Given the description of an element on the screen output the (x, y) to click on. 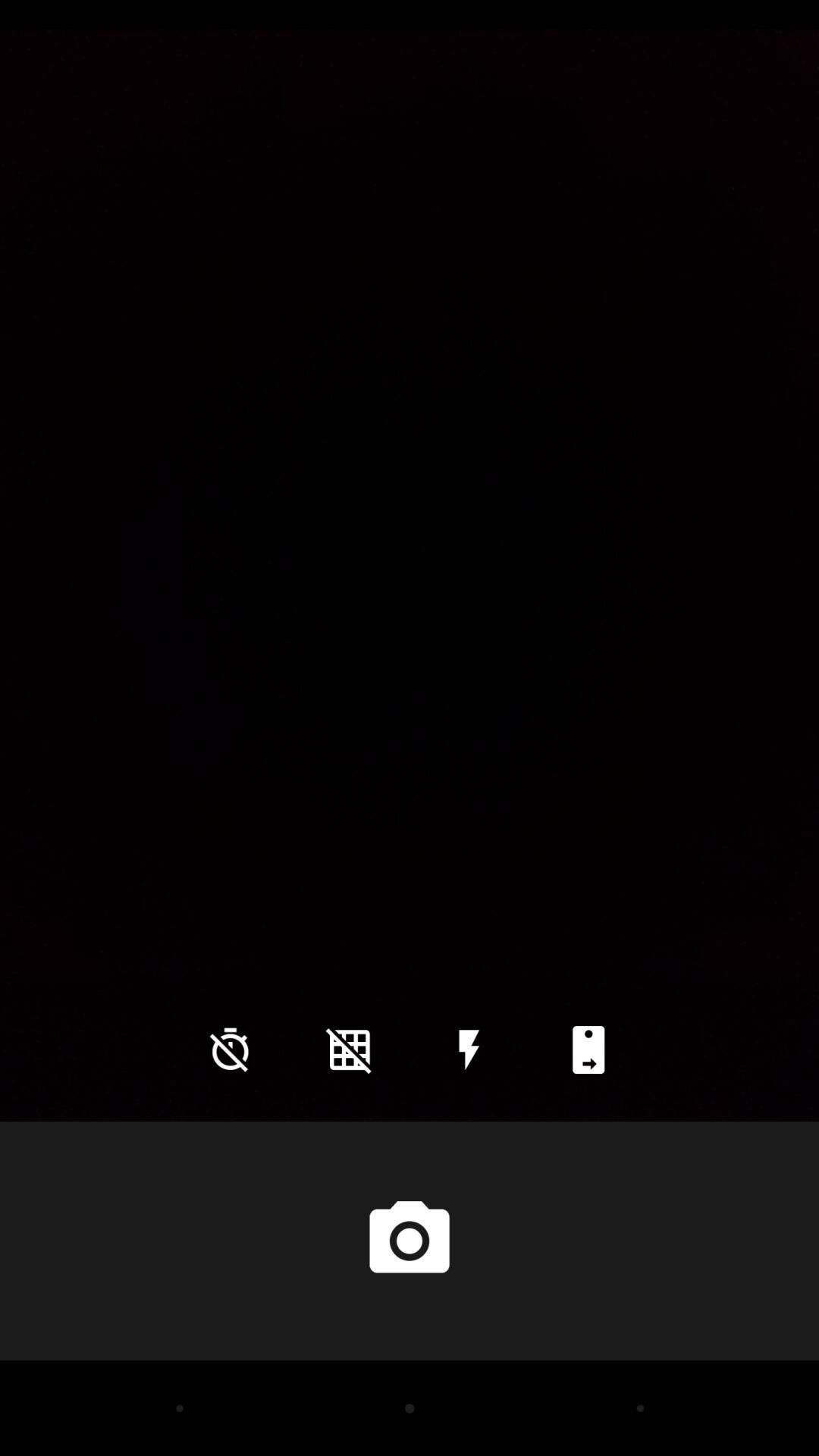
turn on icon at the bottom left corner (230, 1049)
